Given the description of an element on the screen output the (x, y) to click on. 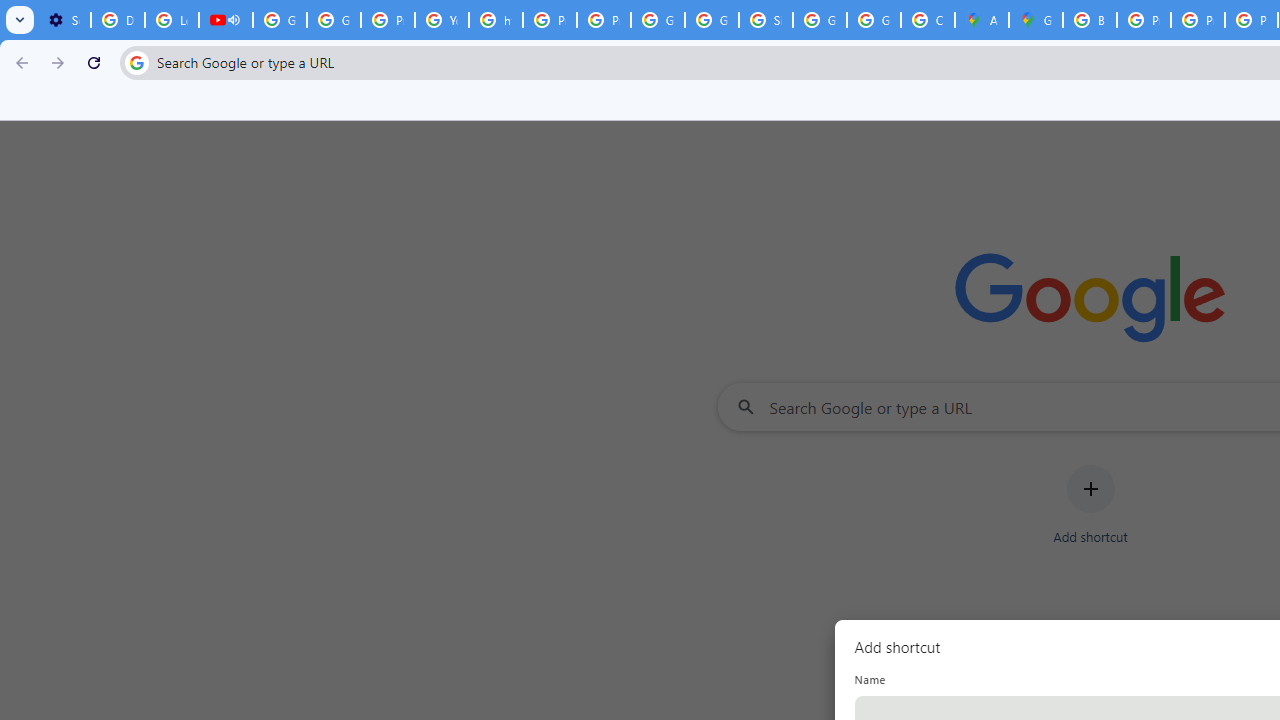
Google Account Help (280, 20)
Privacy Help Center - Policies Help (1144, 20)
Settings - Customize profile (63, 20)
Sign in - Google Accounts (765, 20)
Create your Google Account (927, 20)
Blogger Policies and Guidelines - Transparency Center (1089, 20)
Learn how to find your photos - Google Photos Help (171, 20)
